Given the description of an element on the screen output the (x, y) to click on. 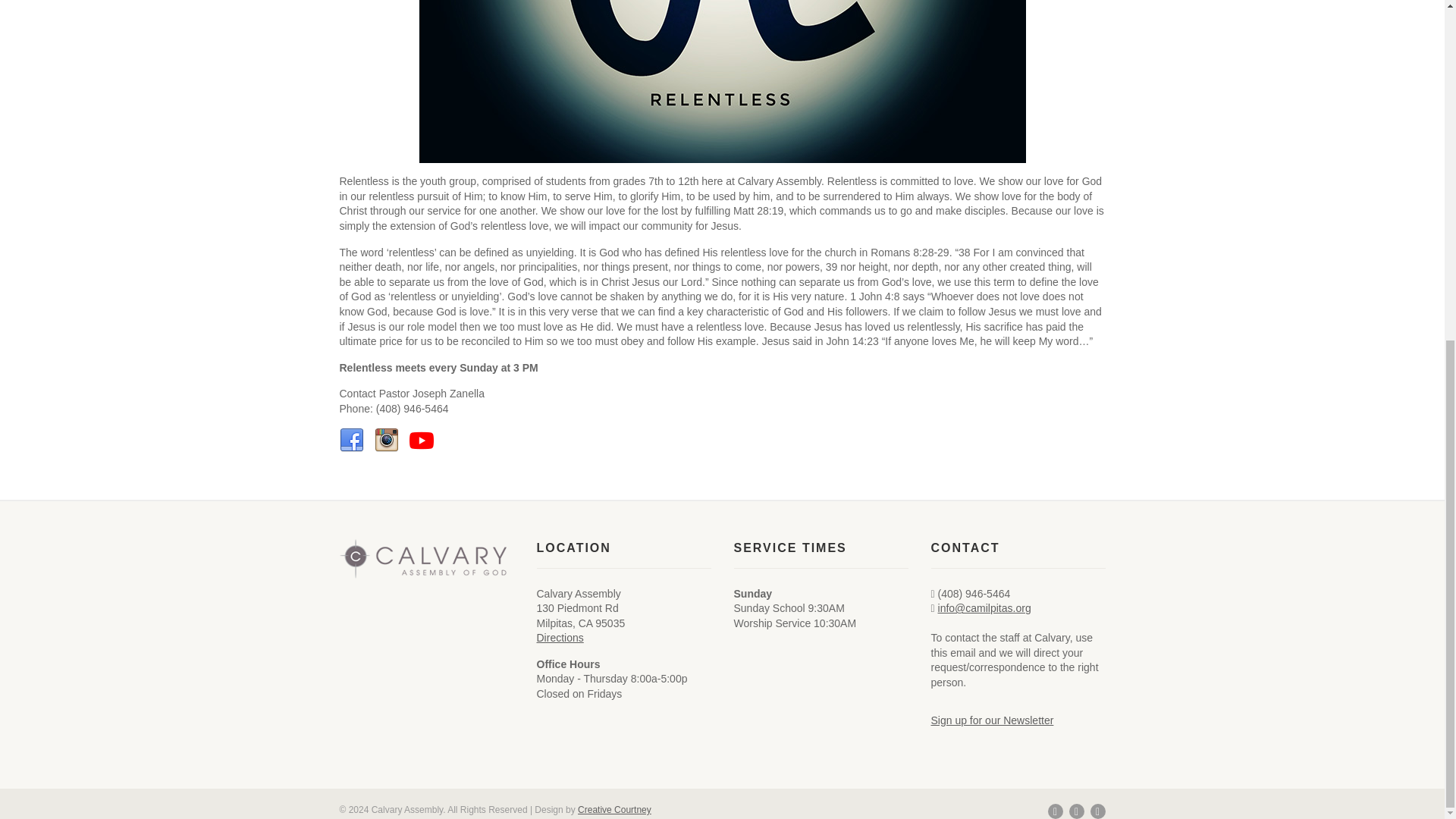
Directions (560, 637)
Creative Courtney (614, 809)
Sign up for our Newsletter (992, 720)
